Given the description of an element on the screen output the (x, y) to click on. 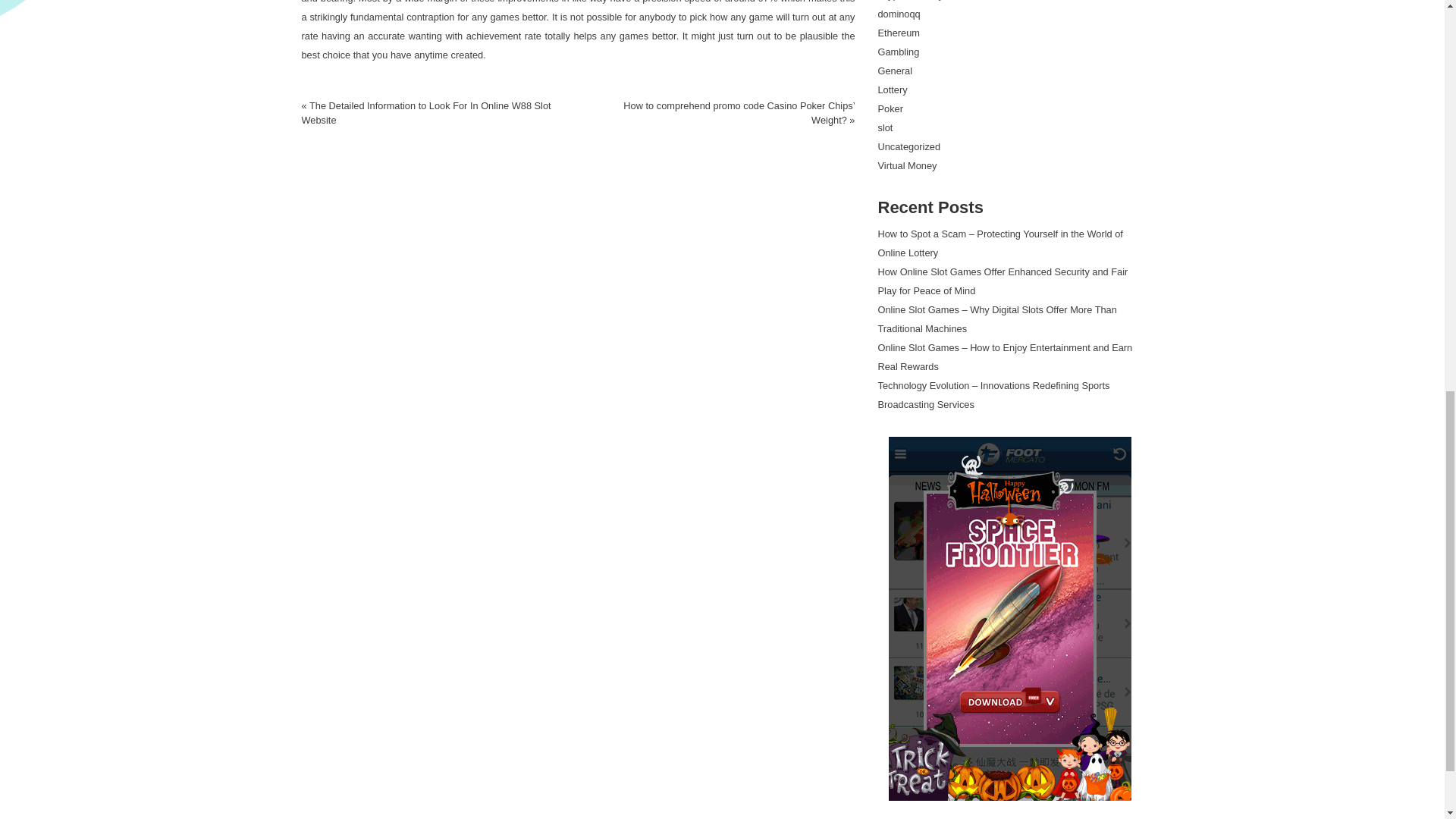
Virtual Money (907, 165)
Cryptocurrency (910, 0)
Lottery (892, 89)
General (894, 70)
Poker (889, 108)
Gambling (898, 51)
slot (885, 127)
Uncategorized (908, 146)
Ethereum (898, 32)
dominoqq (898, 13)
